Given the description of an element on the screen output the (x, y) to click on. 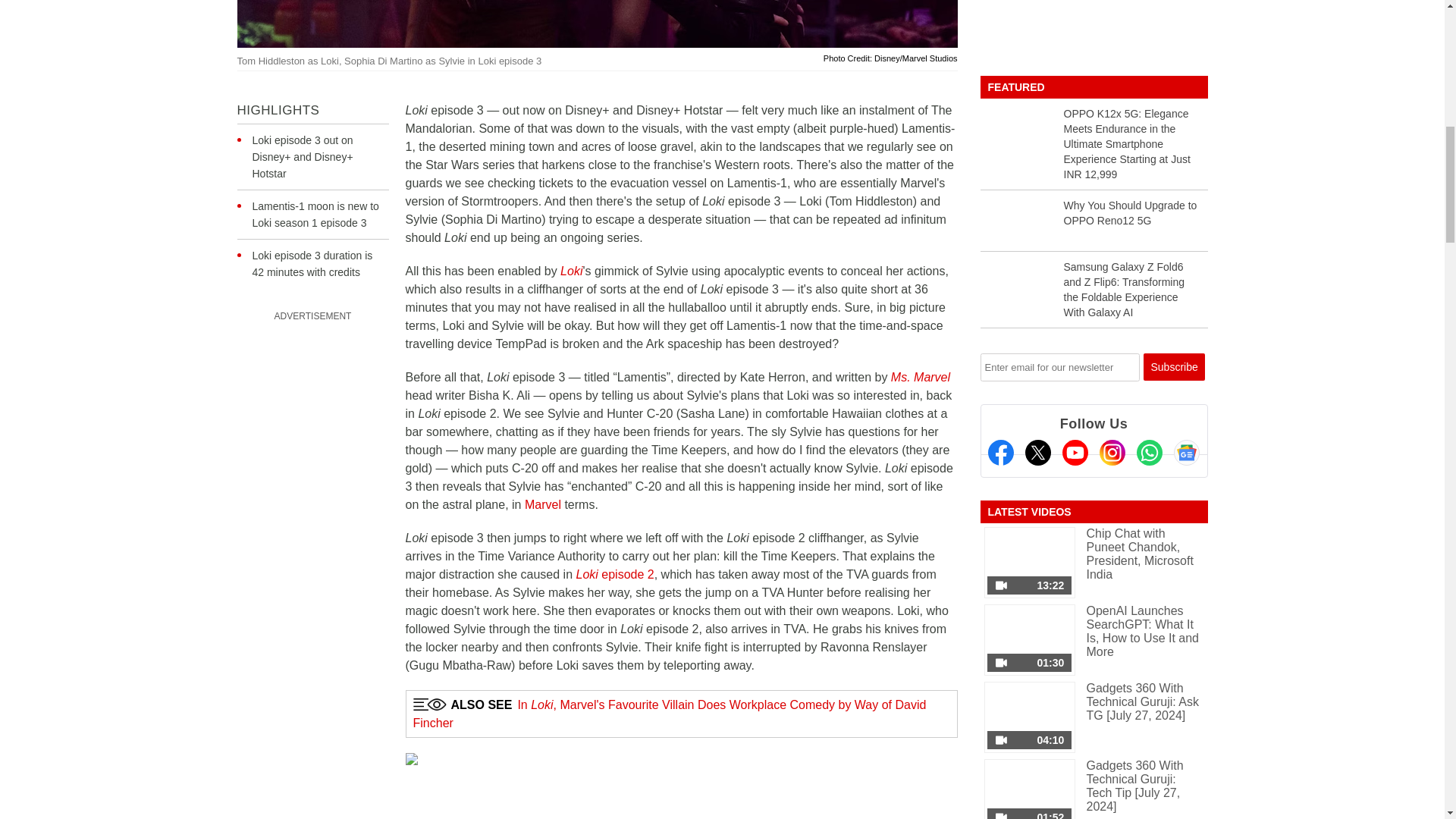
Subscribe (1173, 366)
